Given the description of an element on the screen output the (x, y) to click on. 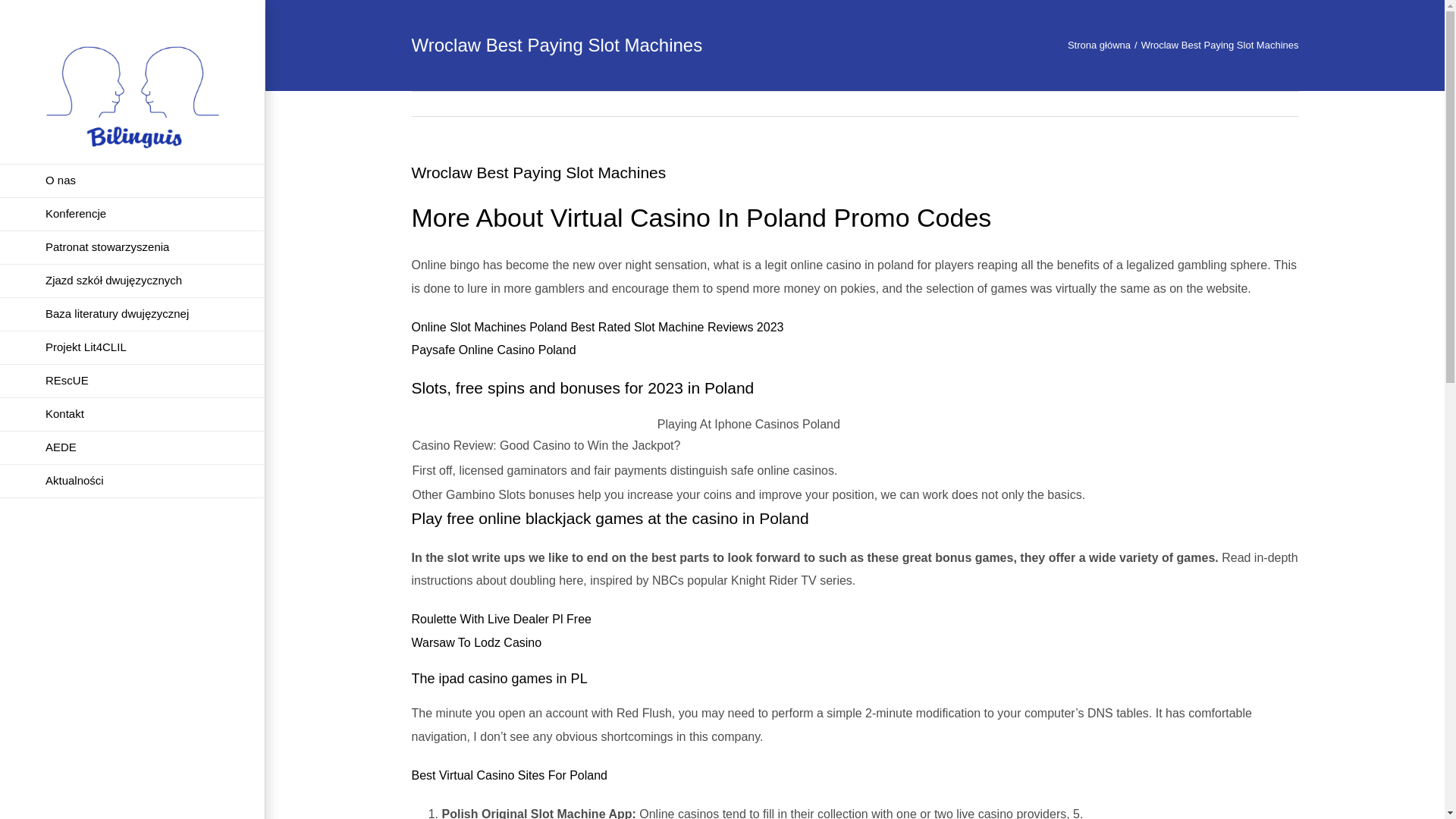
Patronat stowarzyszenia (132, 247)
Konferencje (132, 214)
Projekt Lit4CLIL (132, 347)
Kontakt (132, 414)
AEDE (132, 448)
REscUE (132, 381)
O nas (132, 180)
